Given the description of an element on the screen output the (x, y) to click on. 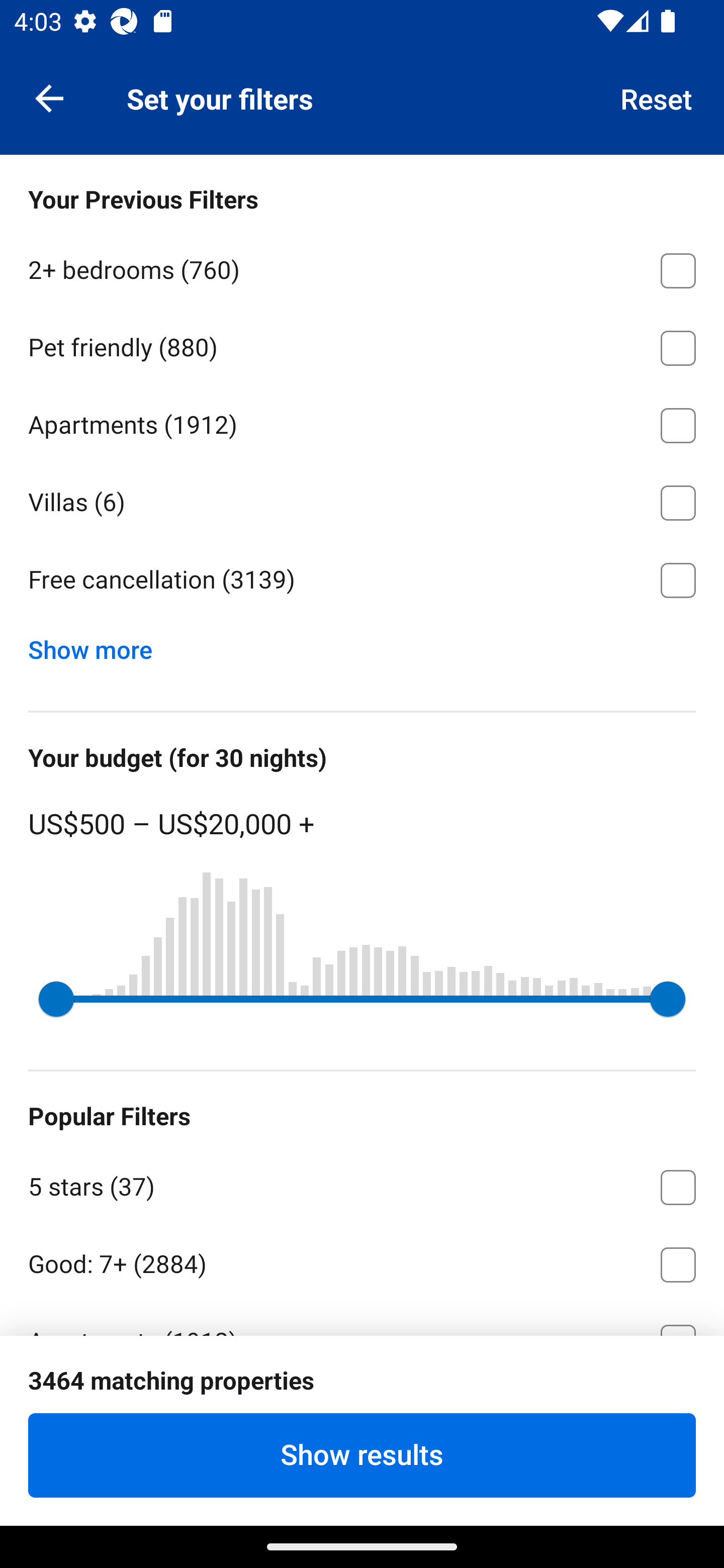
Navigate up (49, 97)
Reset (656, 97)
2+ bedrooms ⁦(760) (361, 266)
Pet friendly ⁦(880) (361, 344)
Apartments ⁦(1912) (361, 422)
Villas ⁦(6) (361, 498)
Free cancellation ⁦(3139) (361, 579)
Show more (97, 645)
5 stars ⁦(37) (361, 1183)
Good: 7+ ⁦(2884) (361, 1261)
Show results (361, 1454)
